Given the description of an element on the screen output the (x, y) to click on. 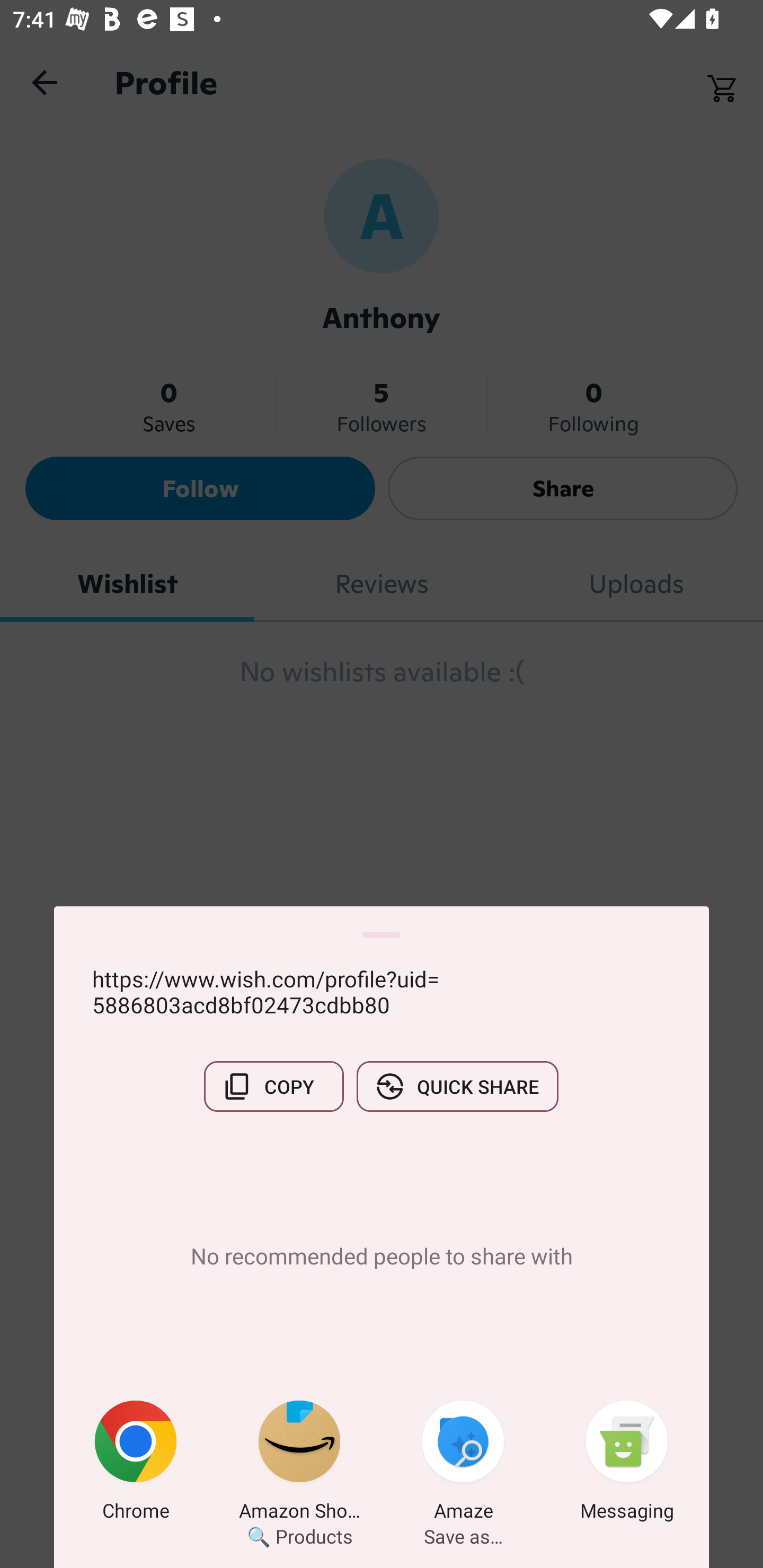
COPY (273, 1086)
QUICK SHARE (457, 1086)
Chrome (135, 1463)
Amazon Shopping 🔍 Products (299, 1463)
Amaze Save as… (463, 1463)
Messaging (626, 1463)
